Given the description of an element on the screen output the (x, y) to click on. 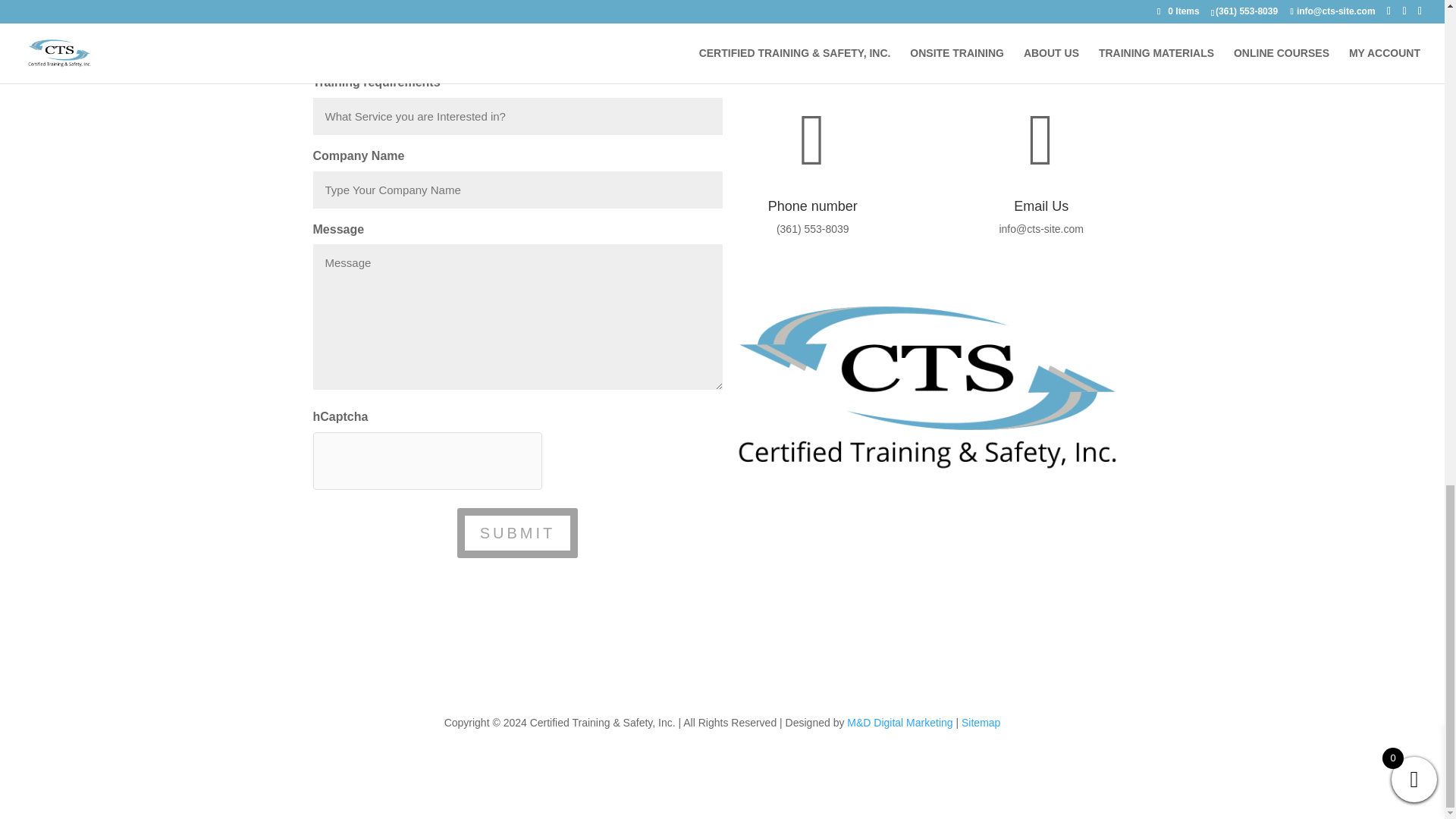
SUBMIT (517, 532)
Sitemap (980, 722)
CTSLogo2021 (926, 386)
